Given the description of an element on the screen output the (x, y) to click on. 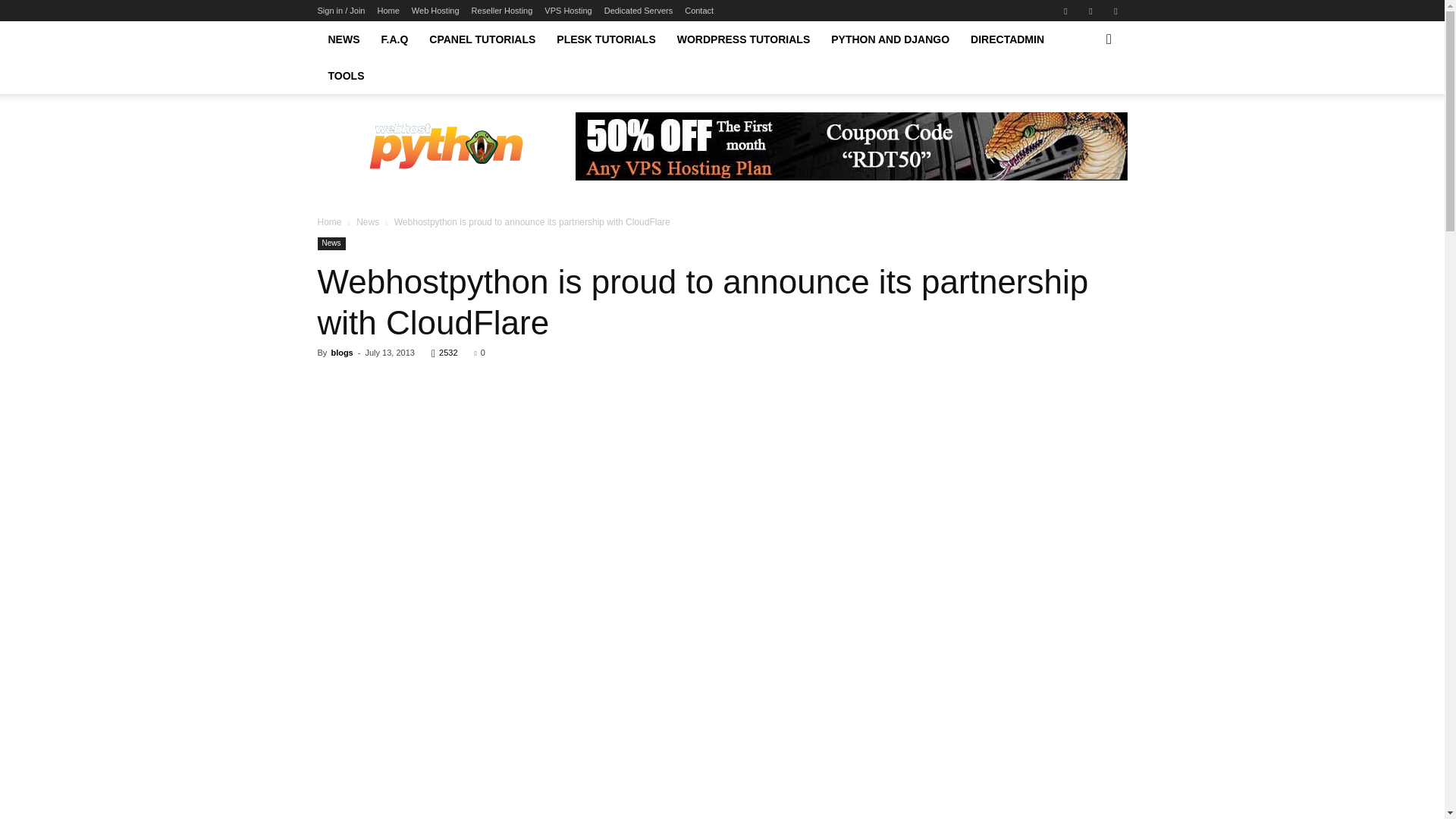
Web Hosting (436, 10)
Facebook (1065, 10)
Home (387, 10)
Mail (1090, 10)
Reseller Hosting (501, 10)
Contact (698, 10)
View all posts in News (367, 222)
Twitter (1114, 10)
VPS Hosting (567, 10)
Dedicated Servers (638, 10)
